Given the description of an element on the screen output the (x, y) to click on. 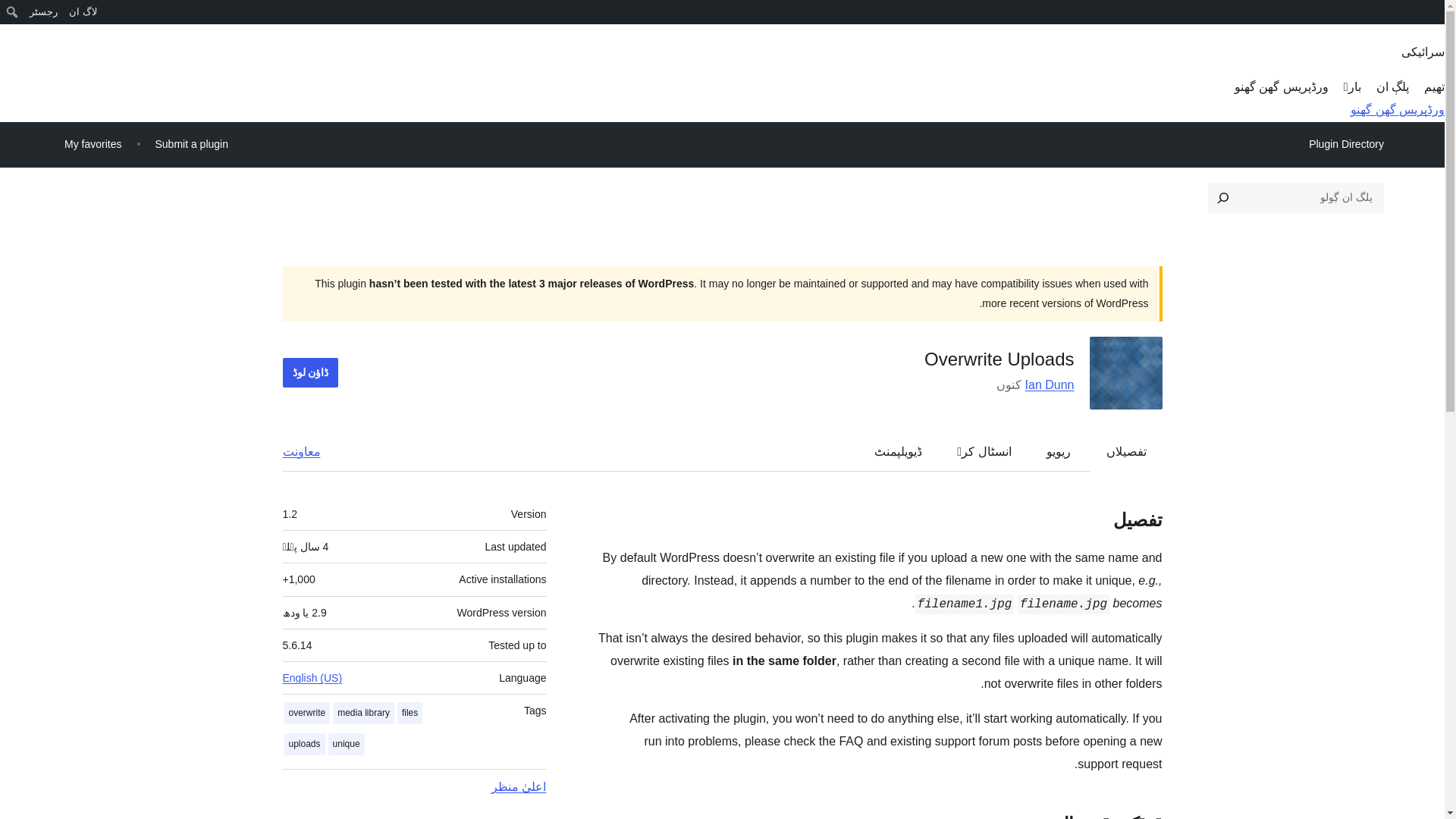
Ian Dunn (1049, 384)
My favorites (93, 144)
Submit a plugin (191, 144)
Plugin Directory (1345, 143)
